Given the description of an element on the screen output the (x, y) to click on. 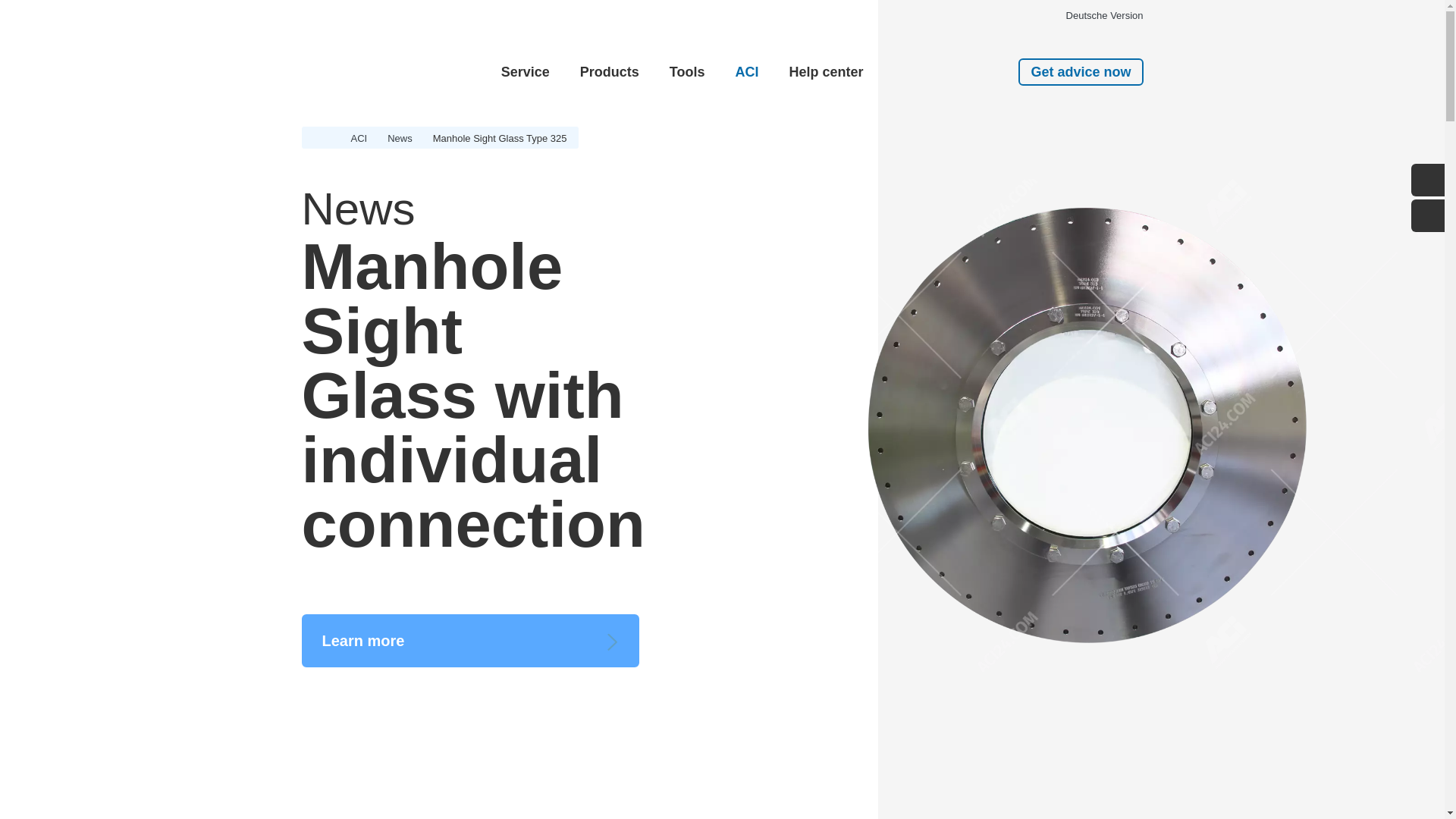
Products (609, 71)
Tools (687, 71)
Service (525, 71)
Help center (823, 71)
Deutsche Version (1103, 15)
ACI (745, 71)
